Given the description of an element on the screen output the (x, y) to click on. 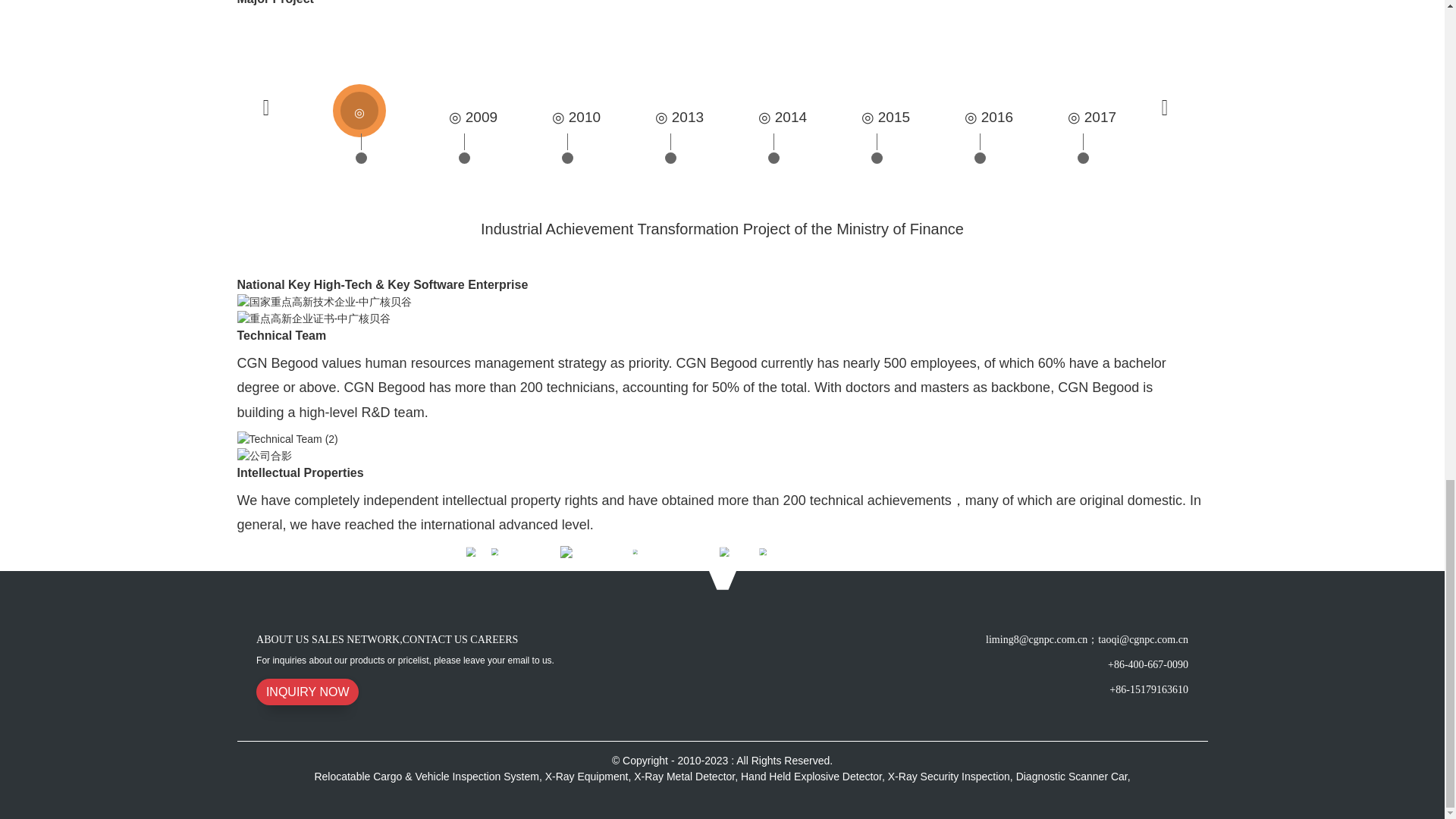
X-Ray Equipment (586, 776)
X-Ray Security Inspection (949, 776)
Diagnostic Scanner Car (1071, 776)
X-Ray Metal Detector (684, 776)
Hand Held Explosive Detector (811, 776)
